Given the description of an element on the screen output the (x, y) to click on. 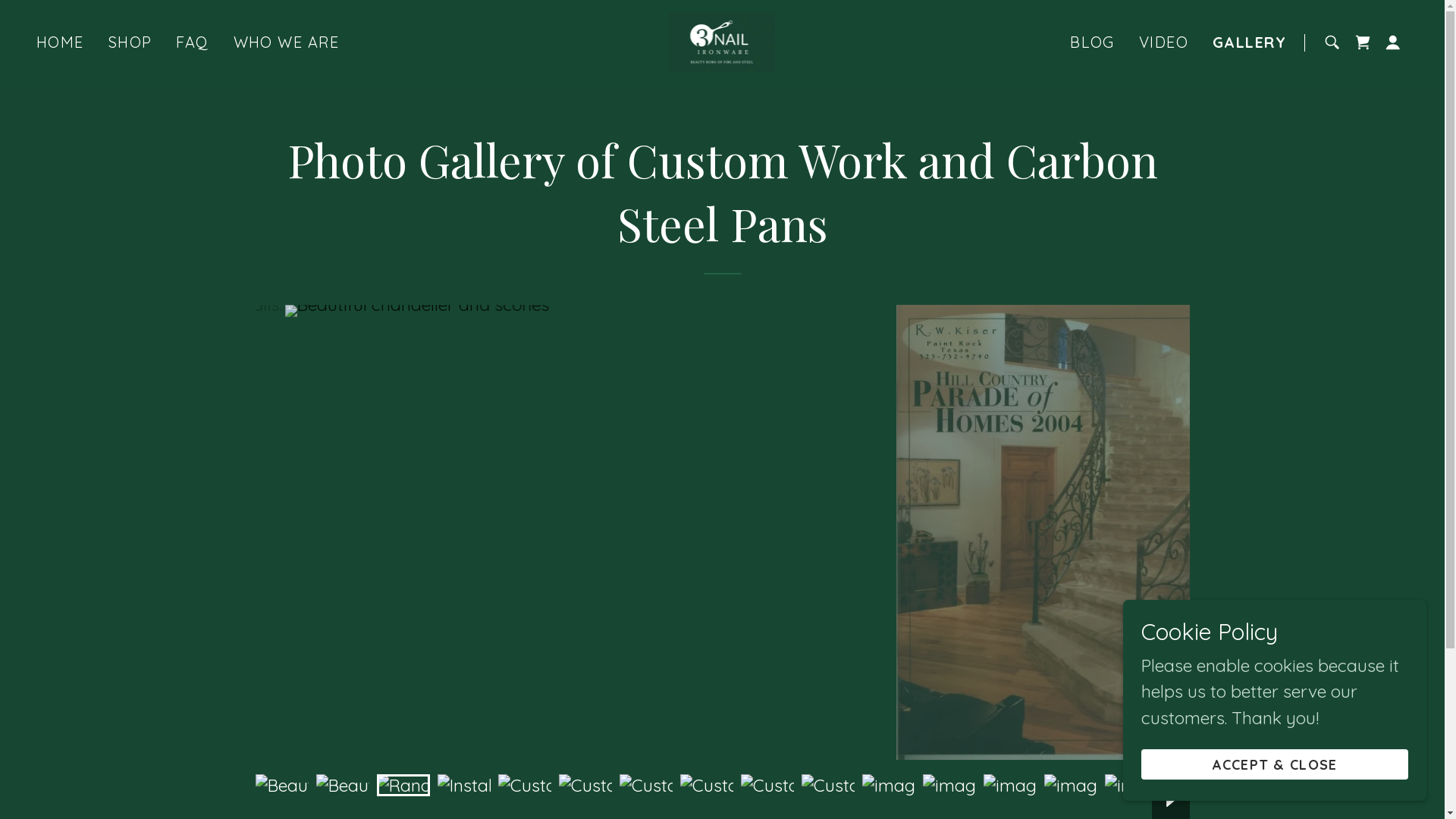
FAQ Element type: text (192, 42)
BLOG Element type: text (1092, 42)
GALLERY Element type: text (1249, 42)
3 Nail Ironware Element type: hover (722, 40)
VIDEO Element type: text (1163, 42)
HOME Element type: text (59, 42)
WHO WE ARE Element type: text (286, 42)
ACCEPT & CLOSE Element type: text (1274, 764)
SHOP Element type: text (129, 42)
